Given the description of an element on the screen output the (x, y) to click on. 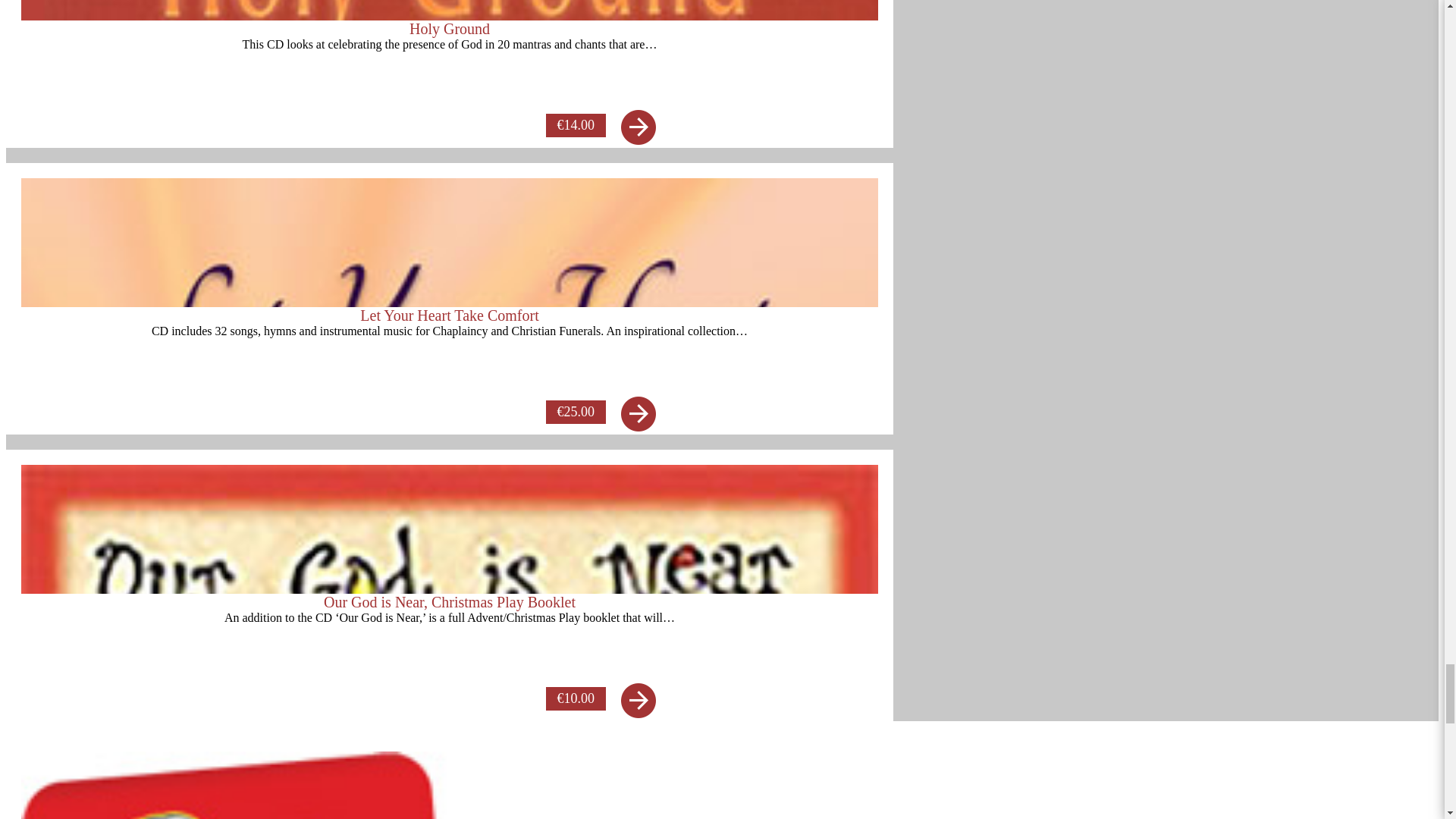
Prayer Cards for Children (449, 785)
Holy Ground (449, 66)
